Given the description of an element on the screen output the (x, y) to click on. 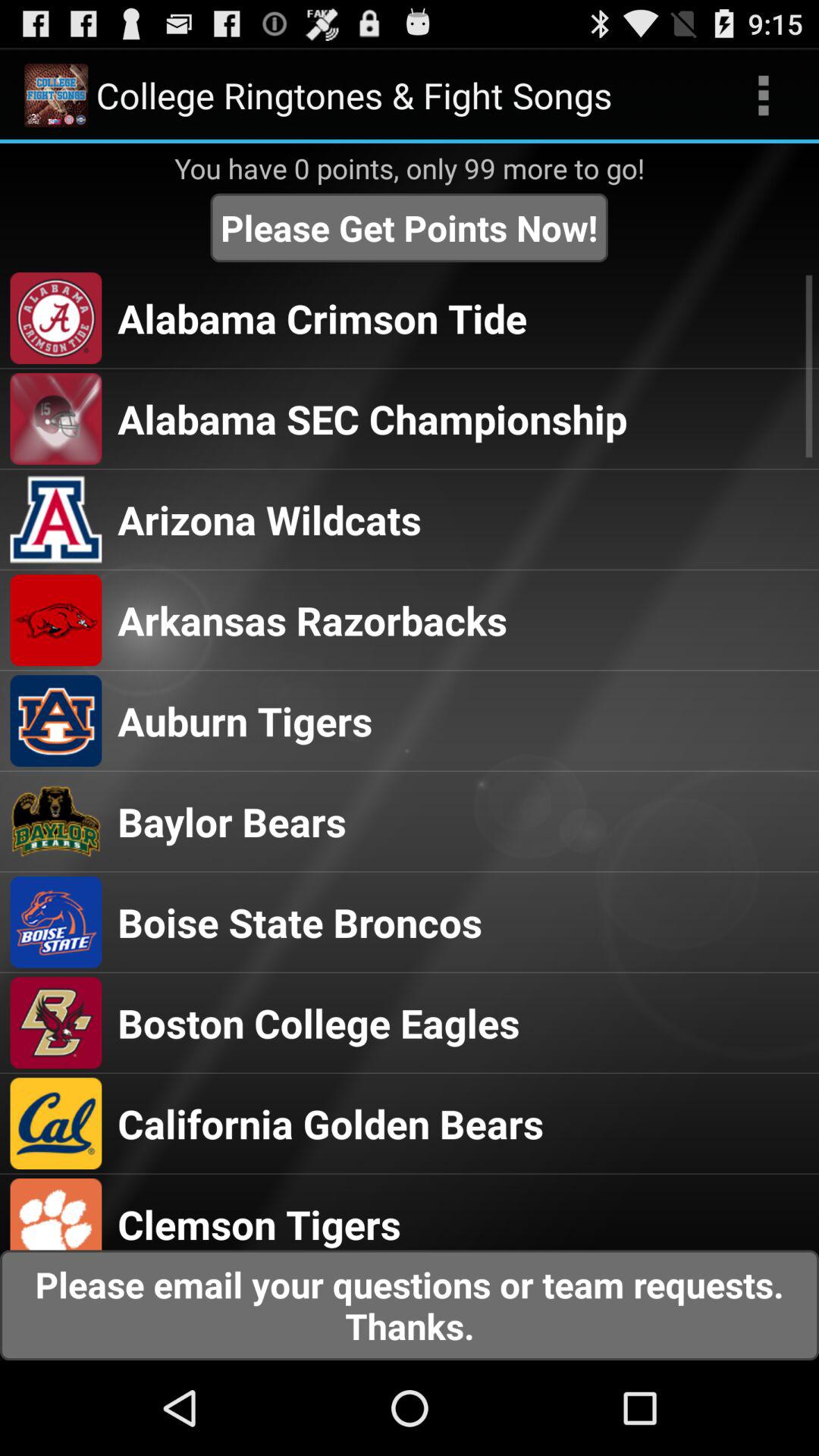
swipe until auburn tigers app (244, 720)
